Given the description of an element on the screen output the (x, y) to click on. 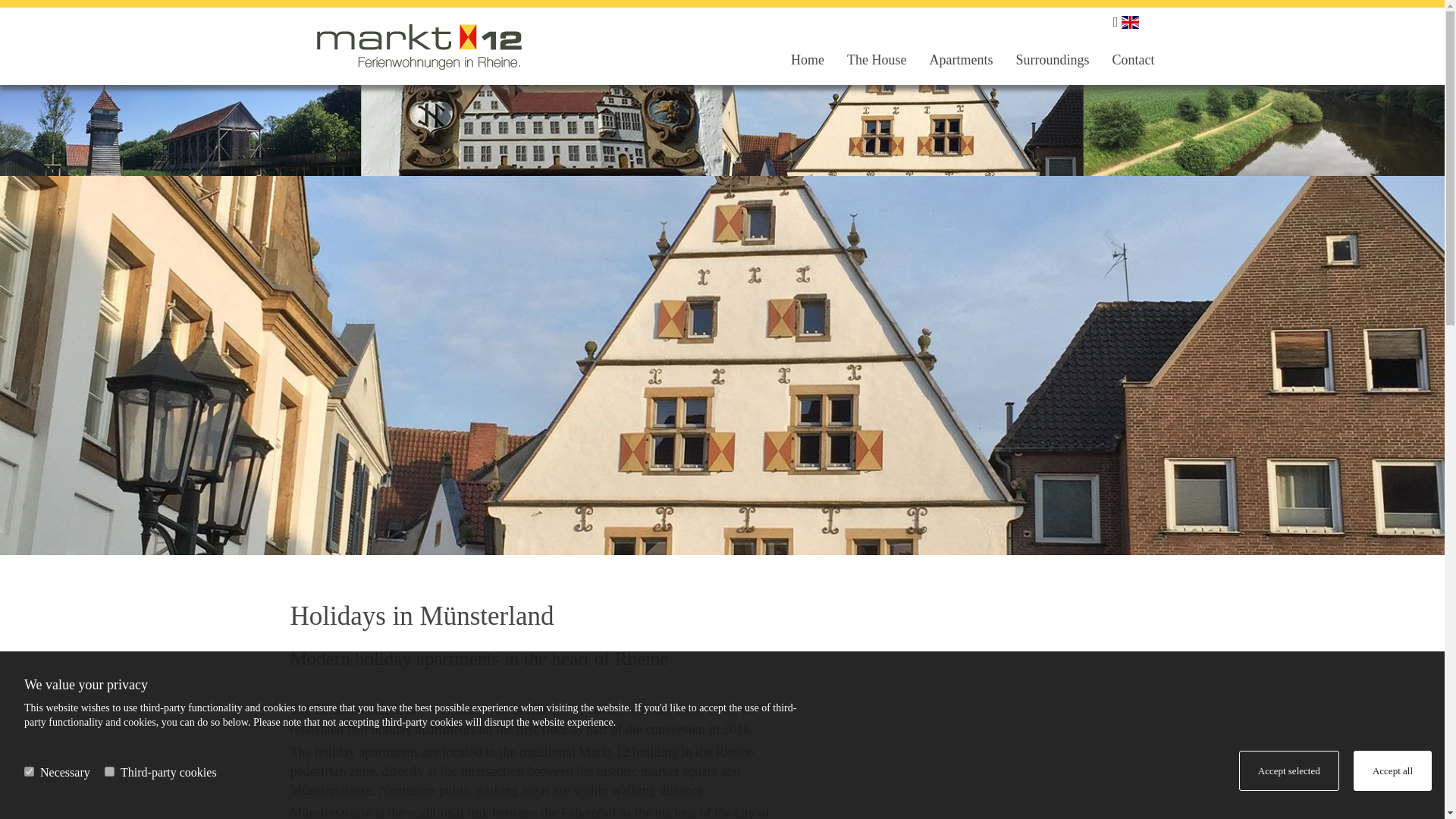
on (109, 771)
Surroundings (1040, 60)
The House (864, 60)
on (28, 771)
Apartments (948, 60)
Home (796, 60)
Contact (1121, 60)
Accept selected (1289, 771)
Accept all (1392, 771)
